Given the description of an element on the screen output the (x, y) to click on. 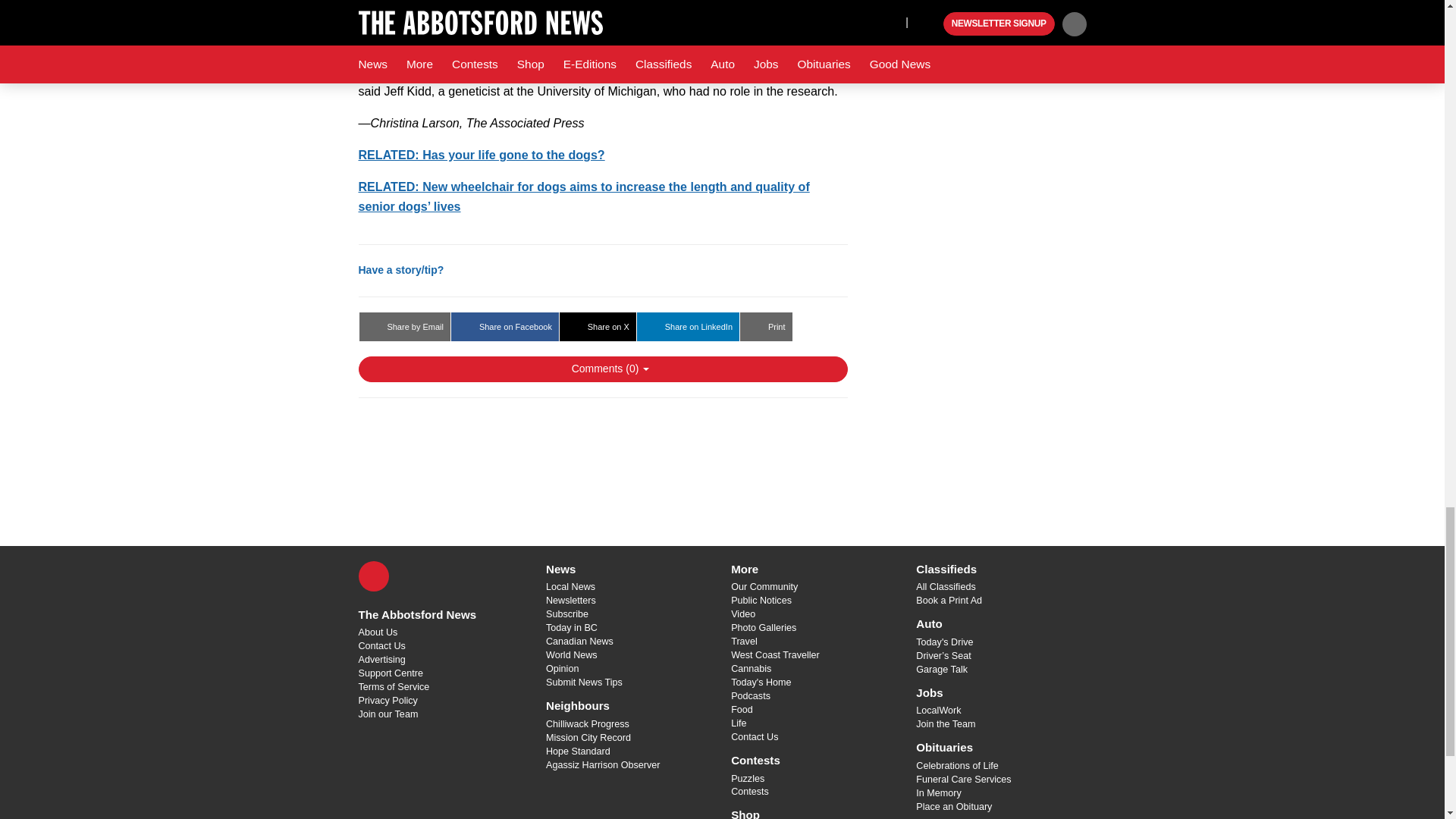
related story (481, 154)
X (373, 576)
related story (583, 195)
Show Comments (602, 369)
